Given the description of an element on the screen output the (x, y) to click on. 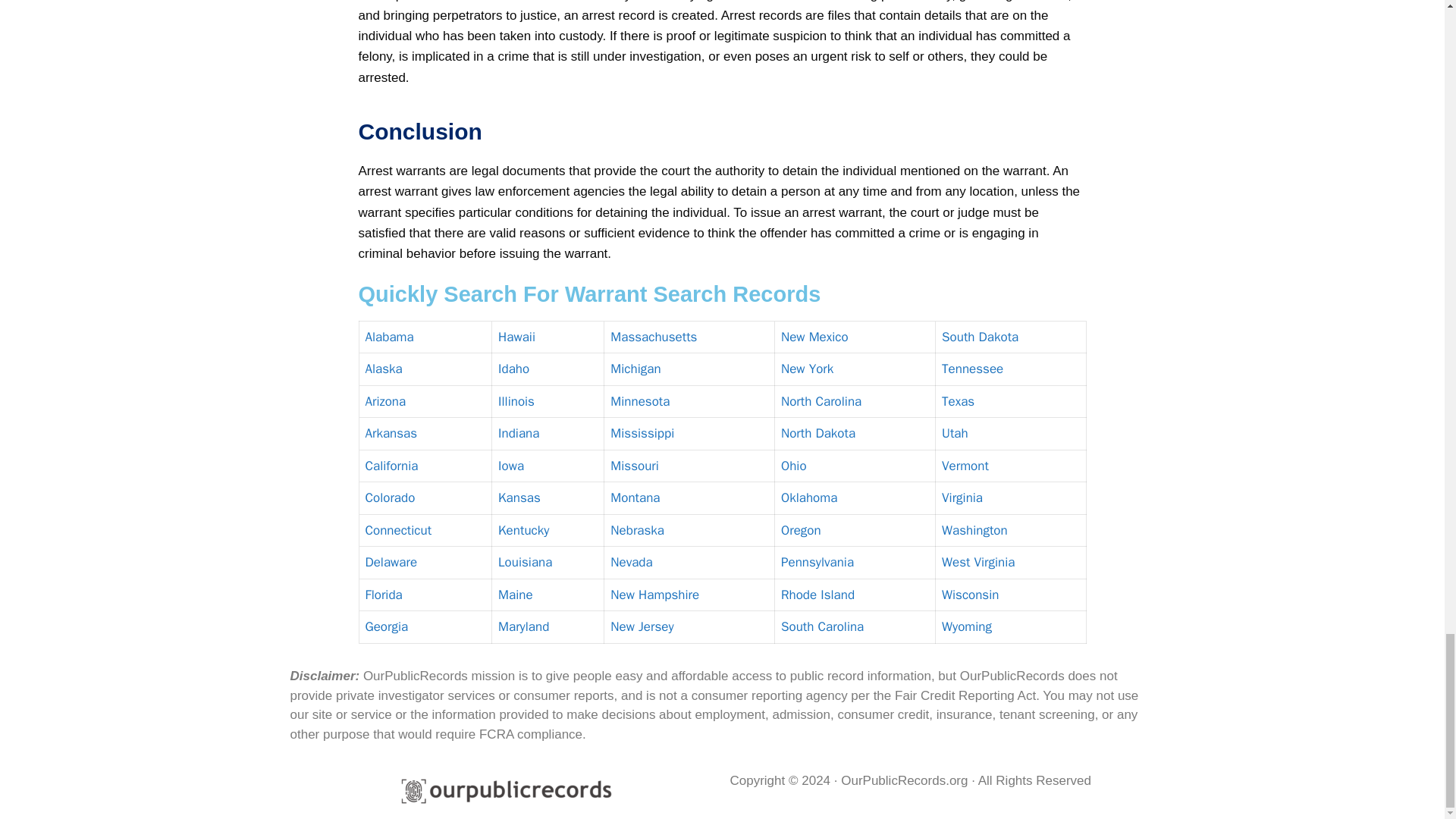
Alabama (389, 336)
Indiana (517, 433)
Michigan (635, 368)
North Carolina (820, 401)
Tennessee (972, 368)
Idaho (513, 368)
Arizona (385, 401)
New York (806, 368)
Massachusetts (653, 336)
Arkansas (391, 433)
South Dakota (979, 336)
Texas (958, 401)
Minnesota (639, 401)
Alaska (384, 368)
Mississippi (642, 433)
